Given the description of an element on the screen output the (x, y) to click on. 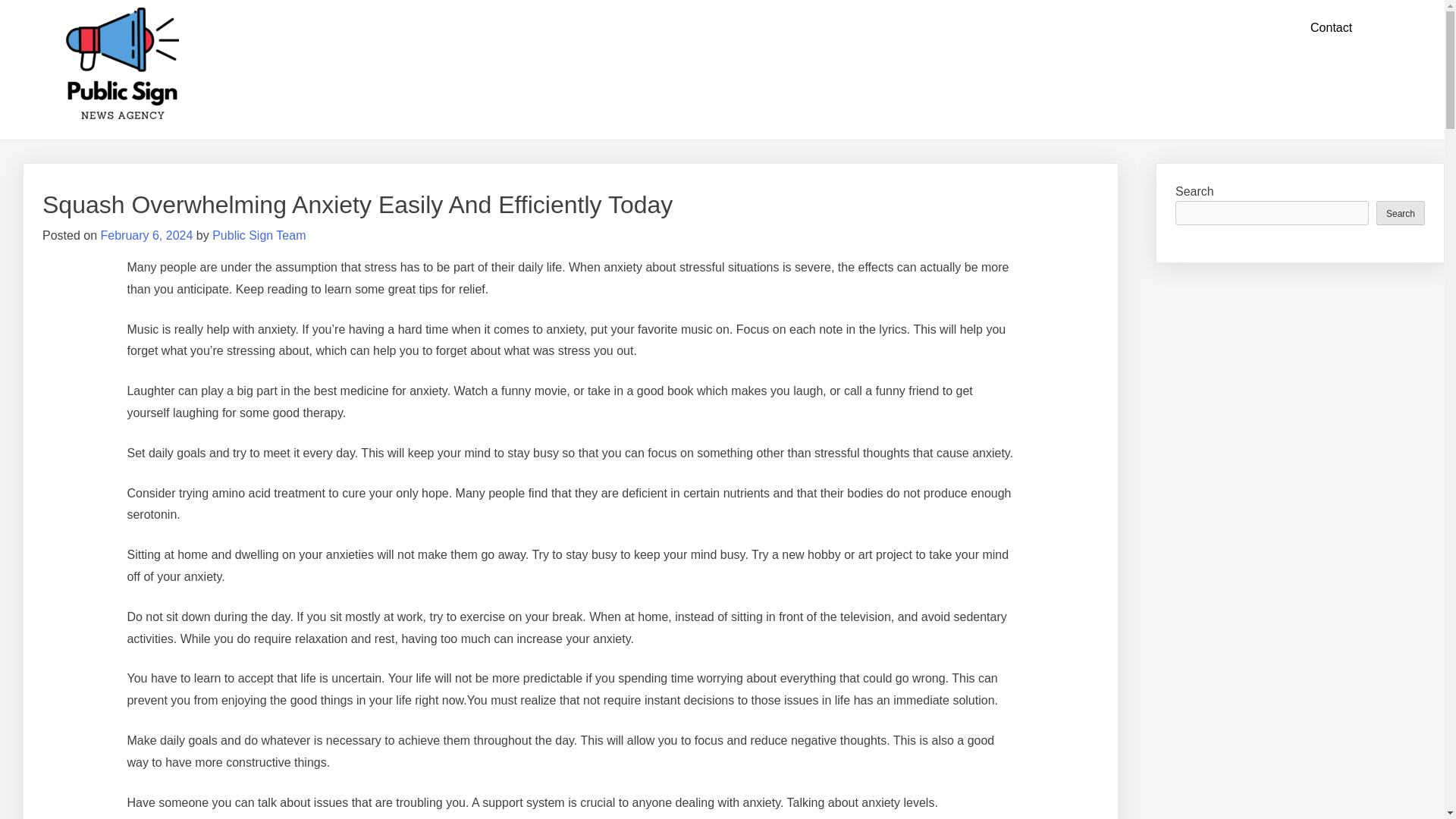
February 6, 2024 (146, 235)
Contact (1330, 28)
Public Sign Team (258, 235)
Public Sign (122, 24)
